Given the description of an element on the screen output the (x, y) to click on. 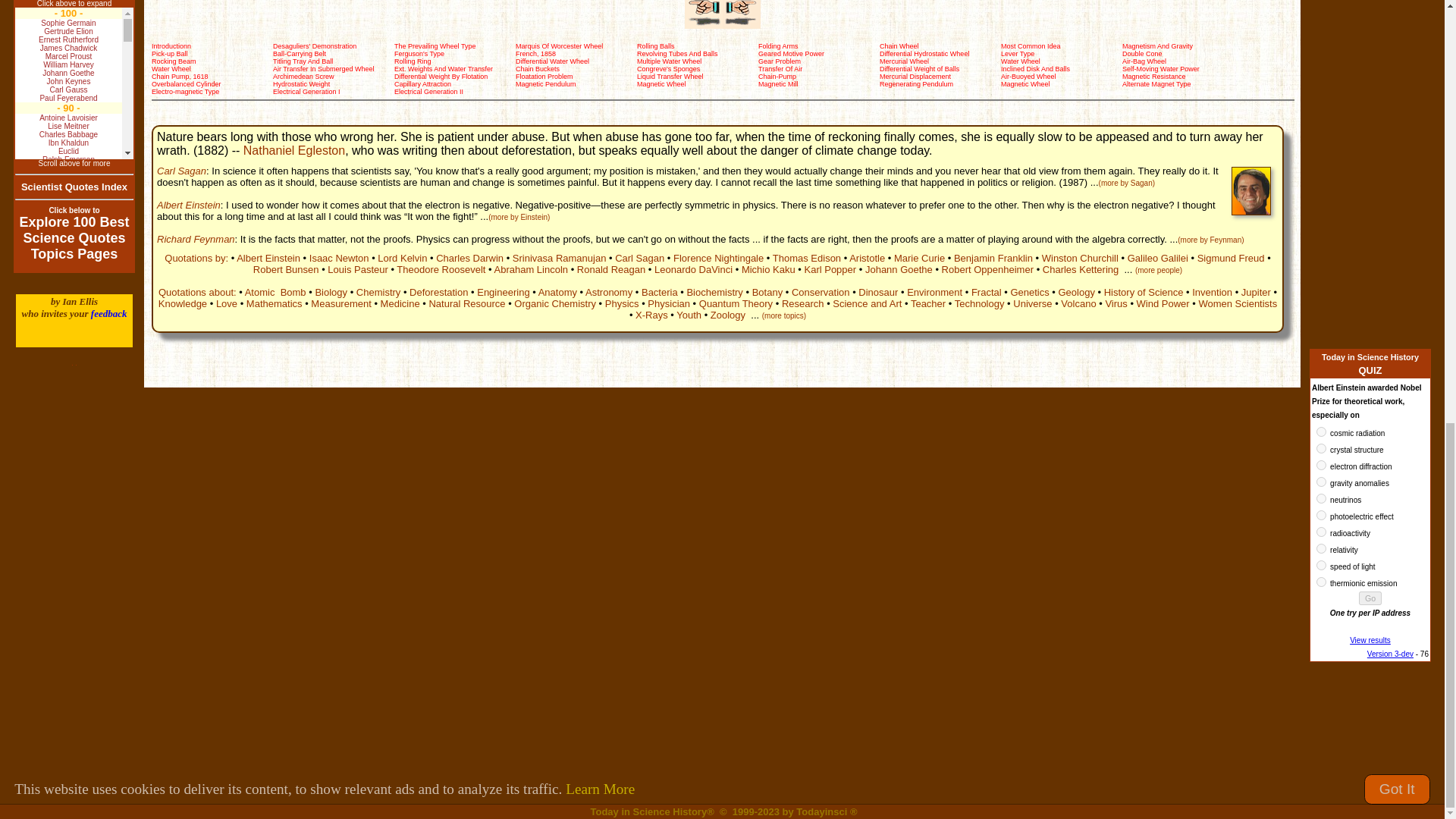
Magnetism And Gravity (1157, 45)
Rolling Ring (412, 61)
Revolving Tubes And Balls (677, 53)
Titling Tray And Ball (303, 61)
Chain Wheel (898, 45)
Introductionn (170, 45)
Rolling Balls (656, 45)
Marquis Of Worcester Wheel (558, 45)
Pick-up Ball (169, 53)
Folding Arms (777, 45)
Most Common Idea (1031, 45)
Lever Type (1017, 53)
The Prevailing Wheel Type (435, 45)
French, 1858 (535, 53)
Differential Hydrostatic Wheel (924, 53)
